Given the description of an element on the screen output the (x, y) to click on. 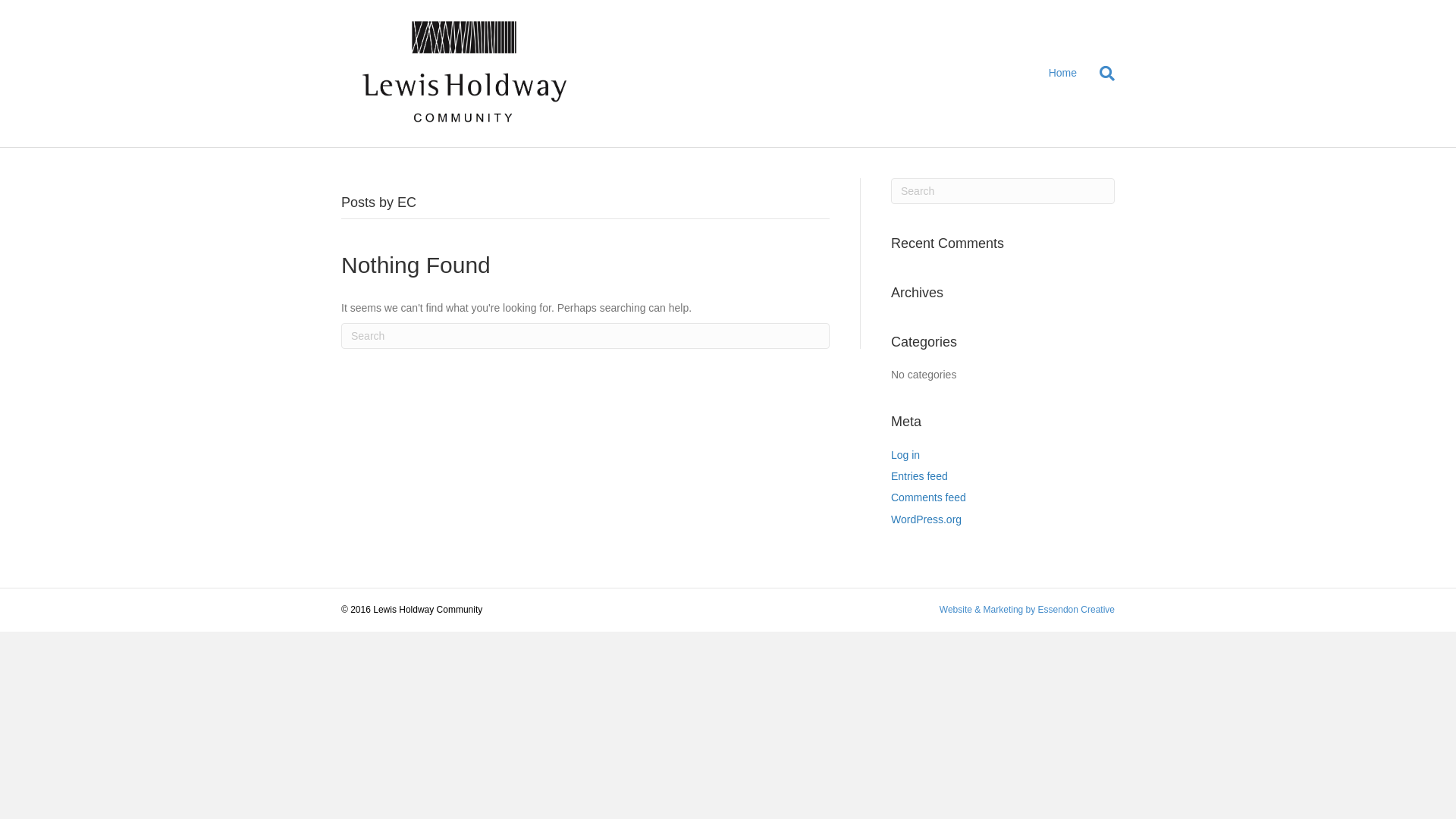
Home Element type: text (1062, 73)
WordPress.org Element type: text (926, 519)
Type and press Enter to search. Element type: hover (585, 335)
Website & Marketing by Essendon Creative Element type: text (1026, 609)
Type and press Enter to search. Element type: hover (1002, 190)
Comments feed Element type: text (928, 497)
Entries feed Element type: text (919, 476)
Log in Element type: text (905, 454)
